Given the description of an element on the screen output the (x, y) to click on. 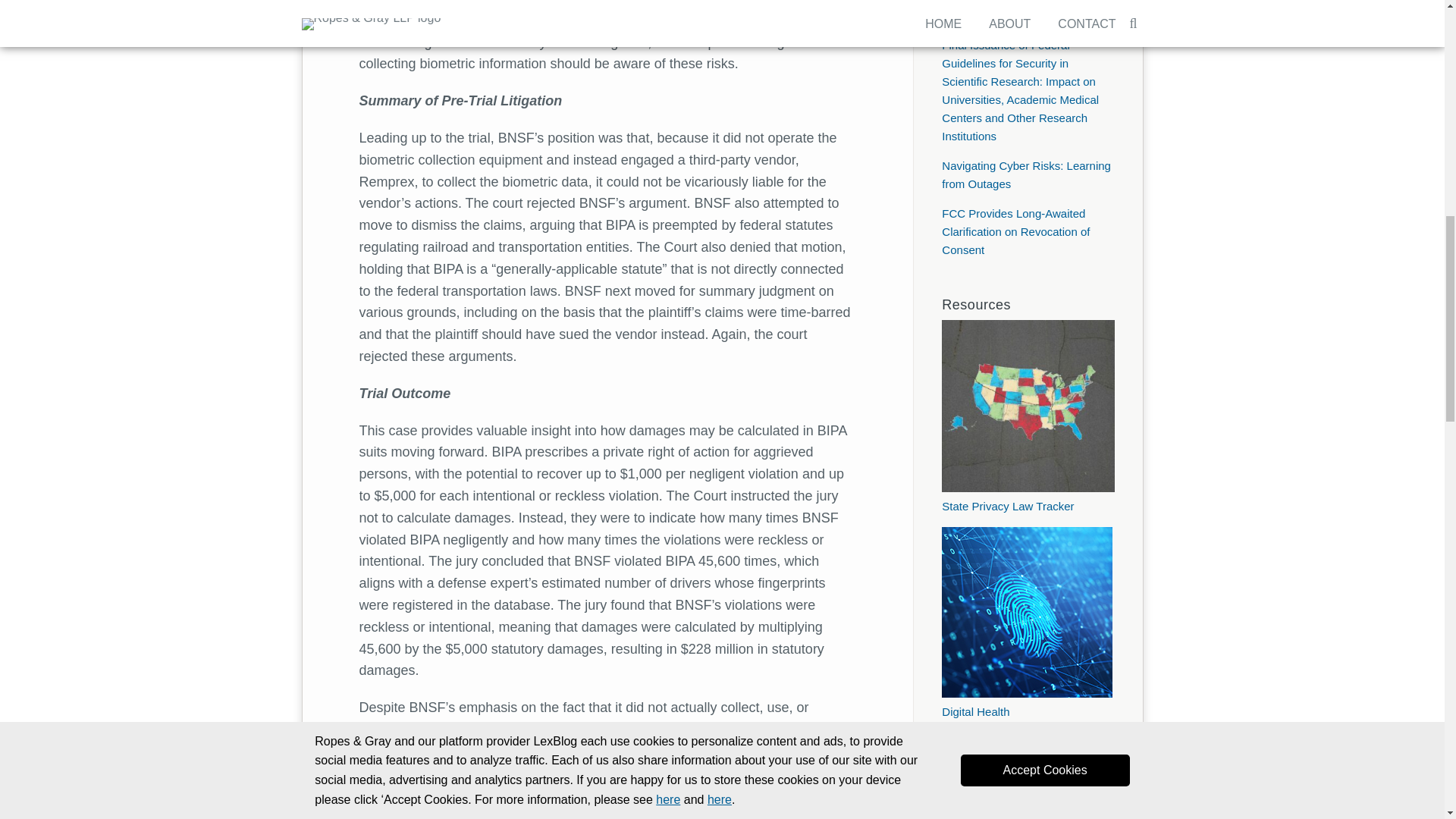
Navigating Cyber Risks: Learning from Outages (1026, 174)
State Privacy Law Tracker (1027, 496)
